Given the description of an element on the screen output the (x, y) to click on. 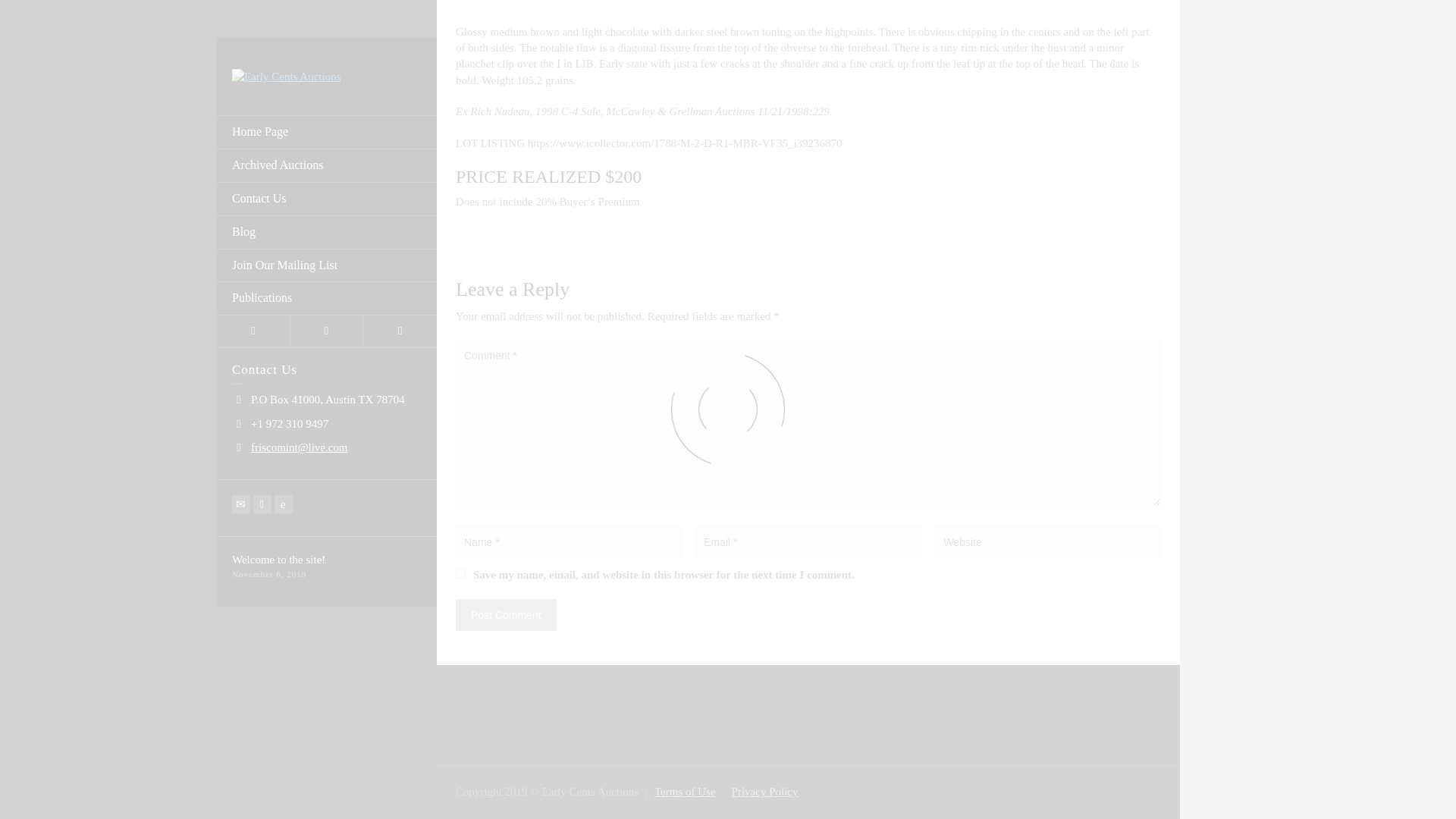
Facebook (261, 416)
Archived Auctions (326, 78)
yes (460, 573)
Search (399, 243)
Email (240, 416)
Login (252, 243)
Home Page (326, 45)
Post Comment (505, 614)
Welcome to the site! (277, 472)
Cart (326, 243)
